Given the description of an element on the screen output the (x, y) to click on. 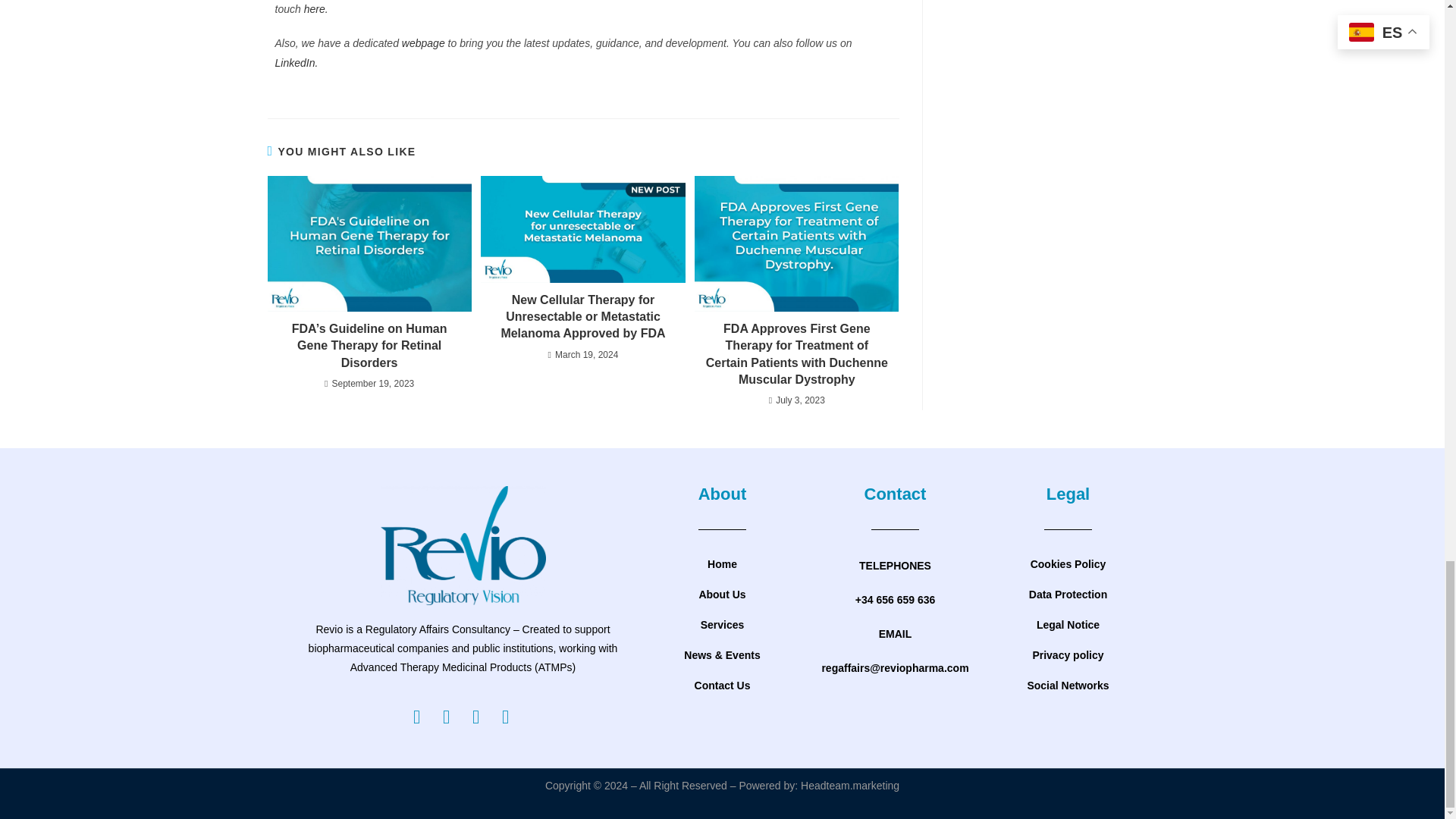
LinkedIn. (296, 62)
webpage (424, 42)
here. (316, 9)
